Given the description of an element on the screen output the (x, y) to click on. 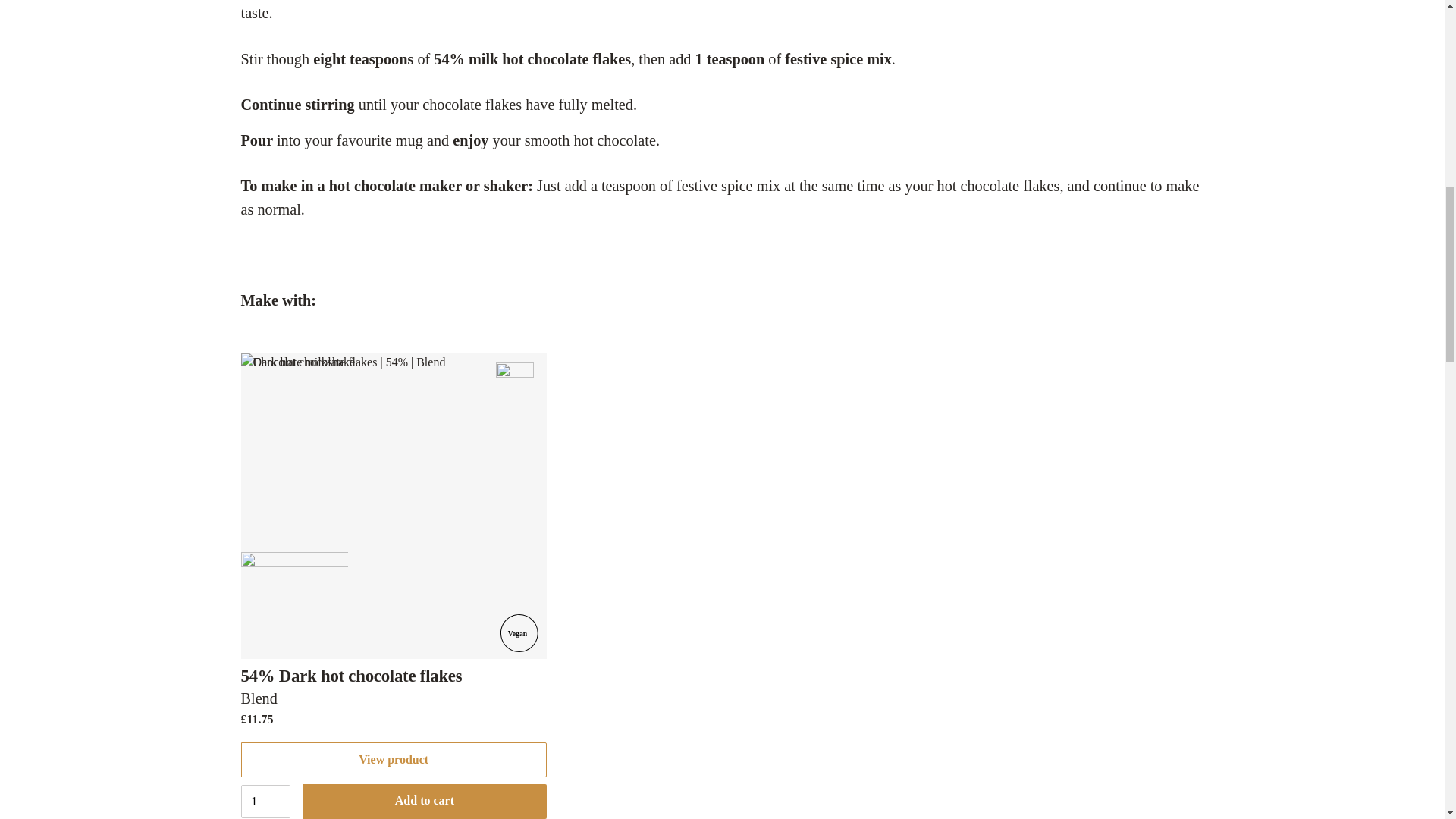
Dark hot chocolate flakes (394, 505)
Add to cart (424, 801)
1 (265, 801)
View product (394, 759)
Vegan (519, 632)
